Given the description of an element on the screen output the (x, y) to click on. 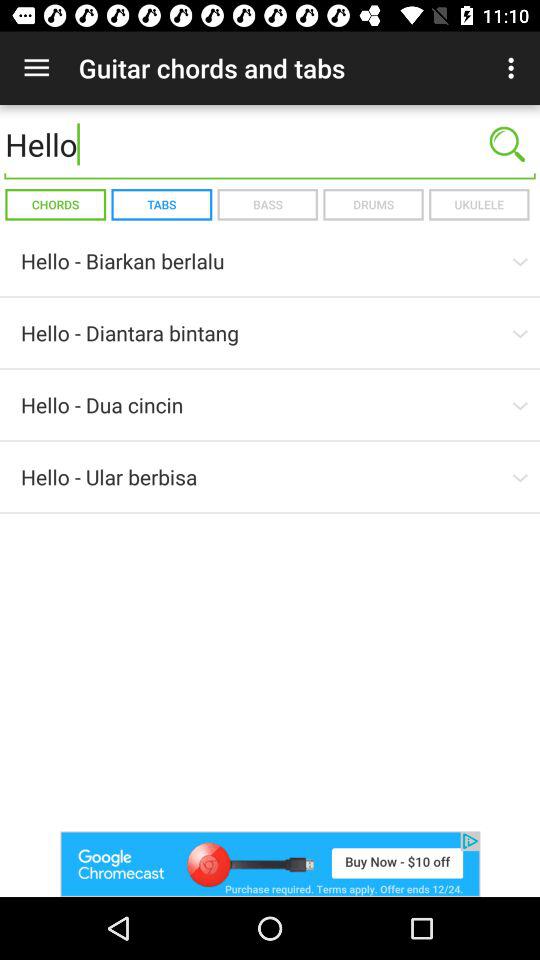
search button (507, 144)
